Given the description of an element on the screen output the (x, y) to click on. 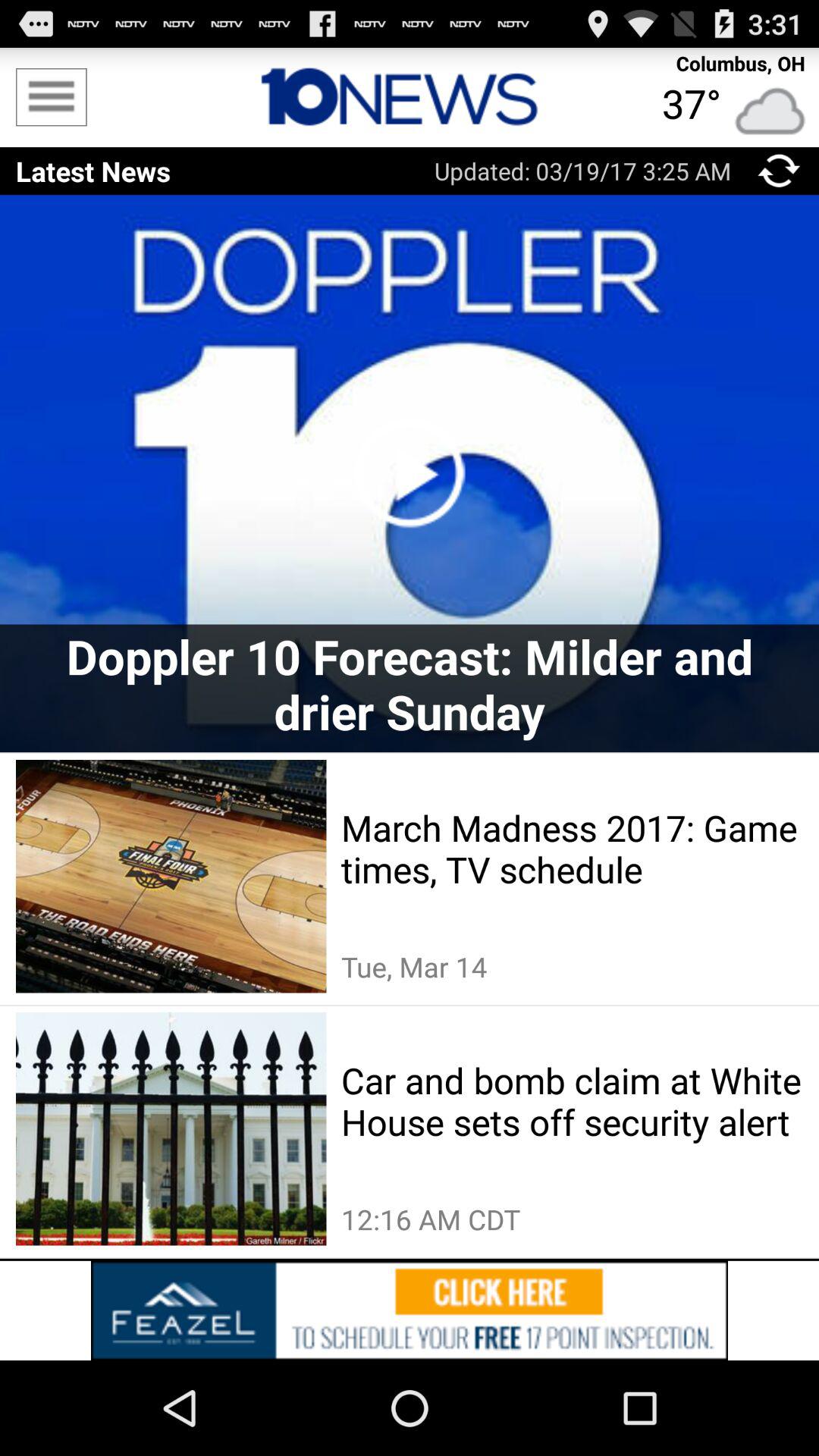
go to previous (779, 171)
